Given the description of an element on the screen output the (x, y) to click on. 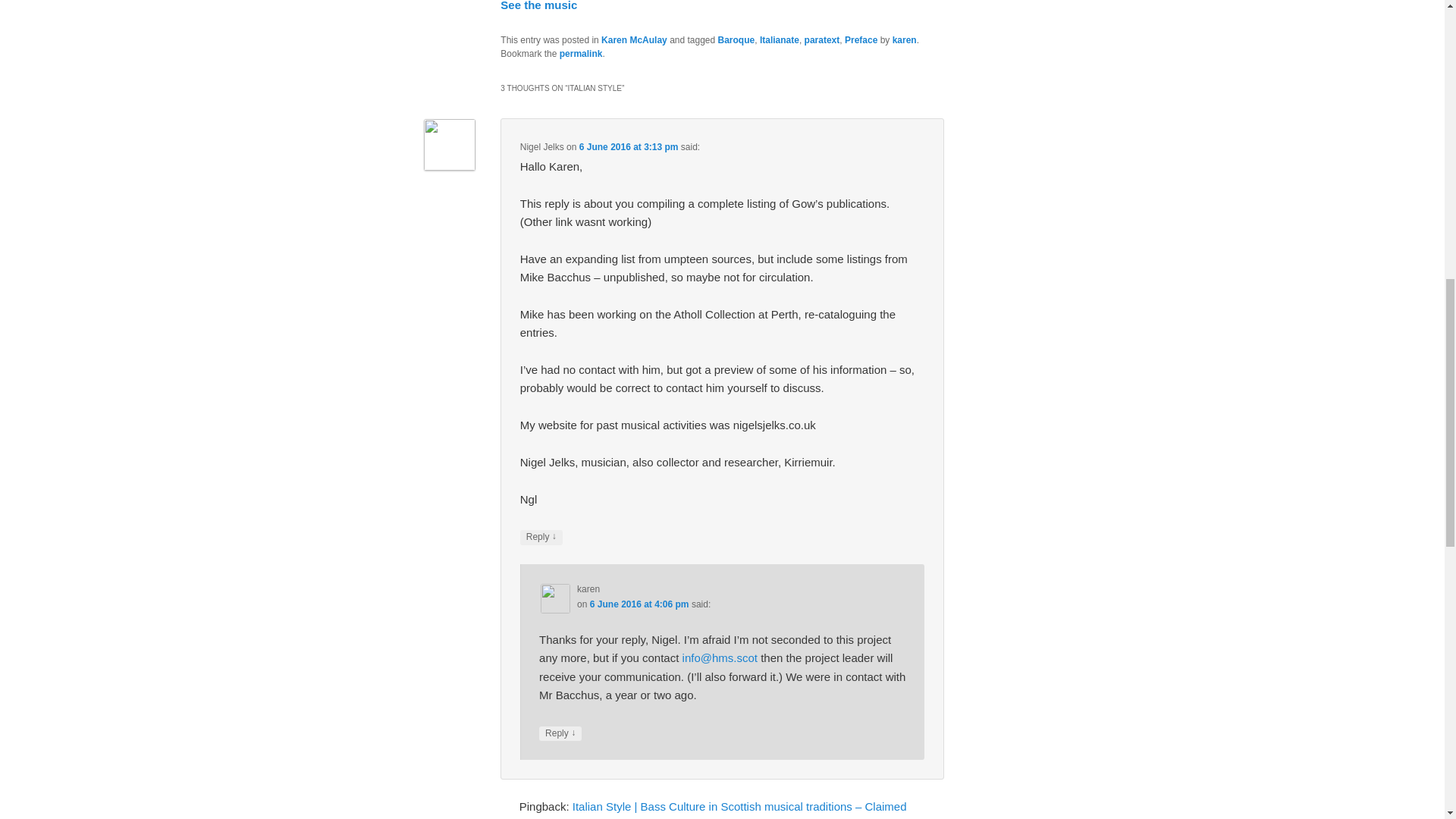
6 June 2016 at 4:06 pm (638, 603)
karen (904, 40)
permalink (580, 53)
paratext (822, 40)
Karen McAulay (633, 40)
See the music (538, 5)
Preface (860, 40)
Italianate (779, 40)
Permalink to Italian Style (580, 53)
6 June 2016 at 3:13 pm (628, 146)
